Given the description of an element on the screen output the (x, y) to click on. 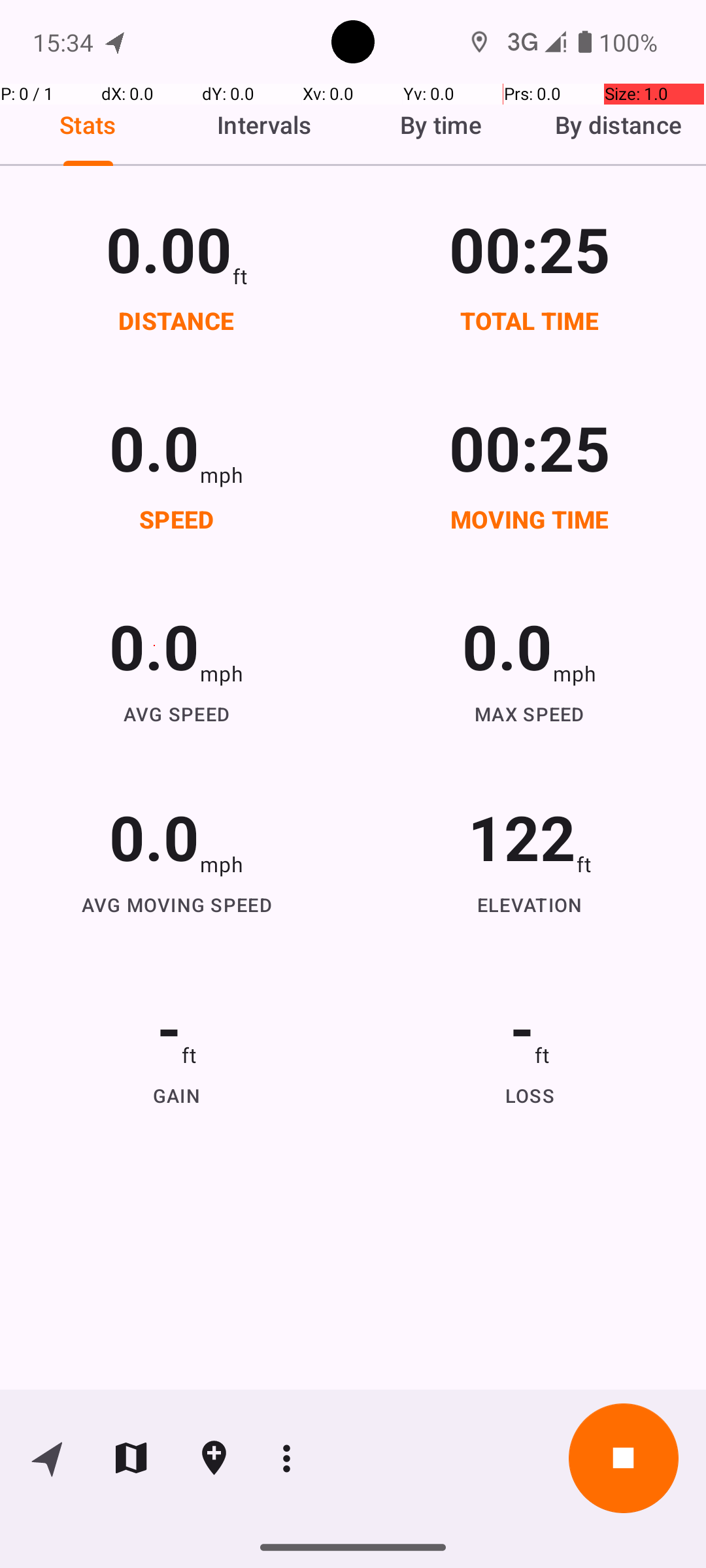
Insert marker Element type: android.widget.Button (213, 1458)
Stop Element type: android.widget.ImageButton (623, 1458)
0.00 Element type: android.widget.TextView (168, 248)
00:25 Element type: android.widget.TextView (529, 248)
0.0 Element type: android.widget.TextView (154, 446)
122 Element type: android.widget.TextView (521, 836)
- Element type: android.widget.TextView (168, 1026)
